Given the description of an element on the screen output the (x, y) to click on. 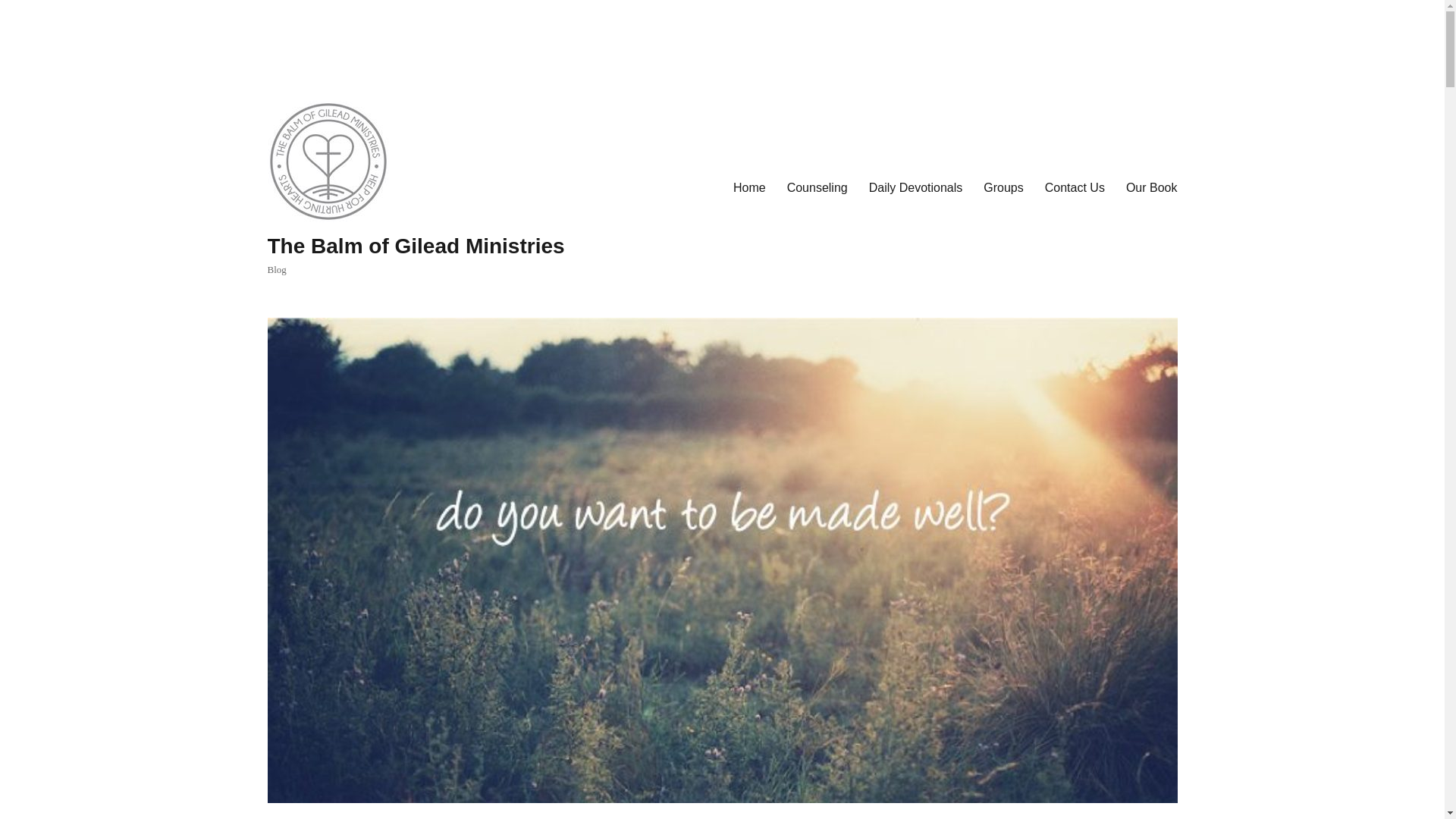
Counseling (817, 187)
Daily Devotionals (916, 187)
Our Book (1151, 187)
Home (749, 187)
The Balm of Gilead Ministries (415, 245)
Groups (1002, 187)
Help For Hurting Hearts  (749, 187)
Contact Us (1074, 187)
